Given the description of an element on the screen output the (x, y) to click on. 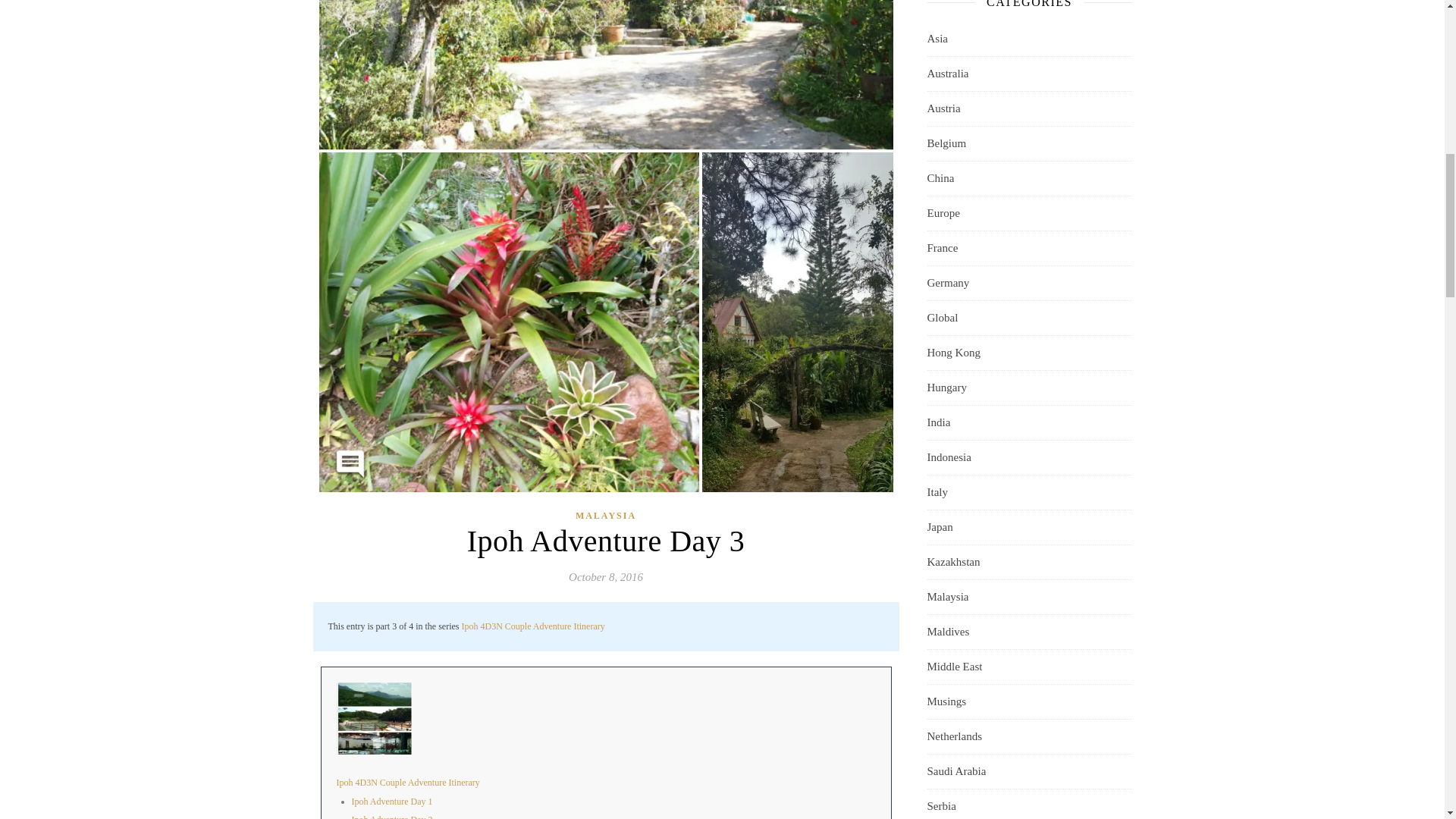
Ipoh 4D3N Couple Adventure Itinerary (408, 782)
Ipoh 4D3N Couple Adventure Itinerary (532, 625)
Ipoh Adventure Day 2 (392, 816)
Ipoh Adventure Day 1 (392, 801)
